Given the description of an element on the screen output the (x, y) to click on. 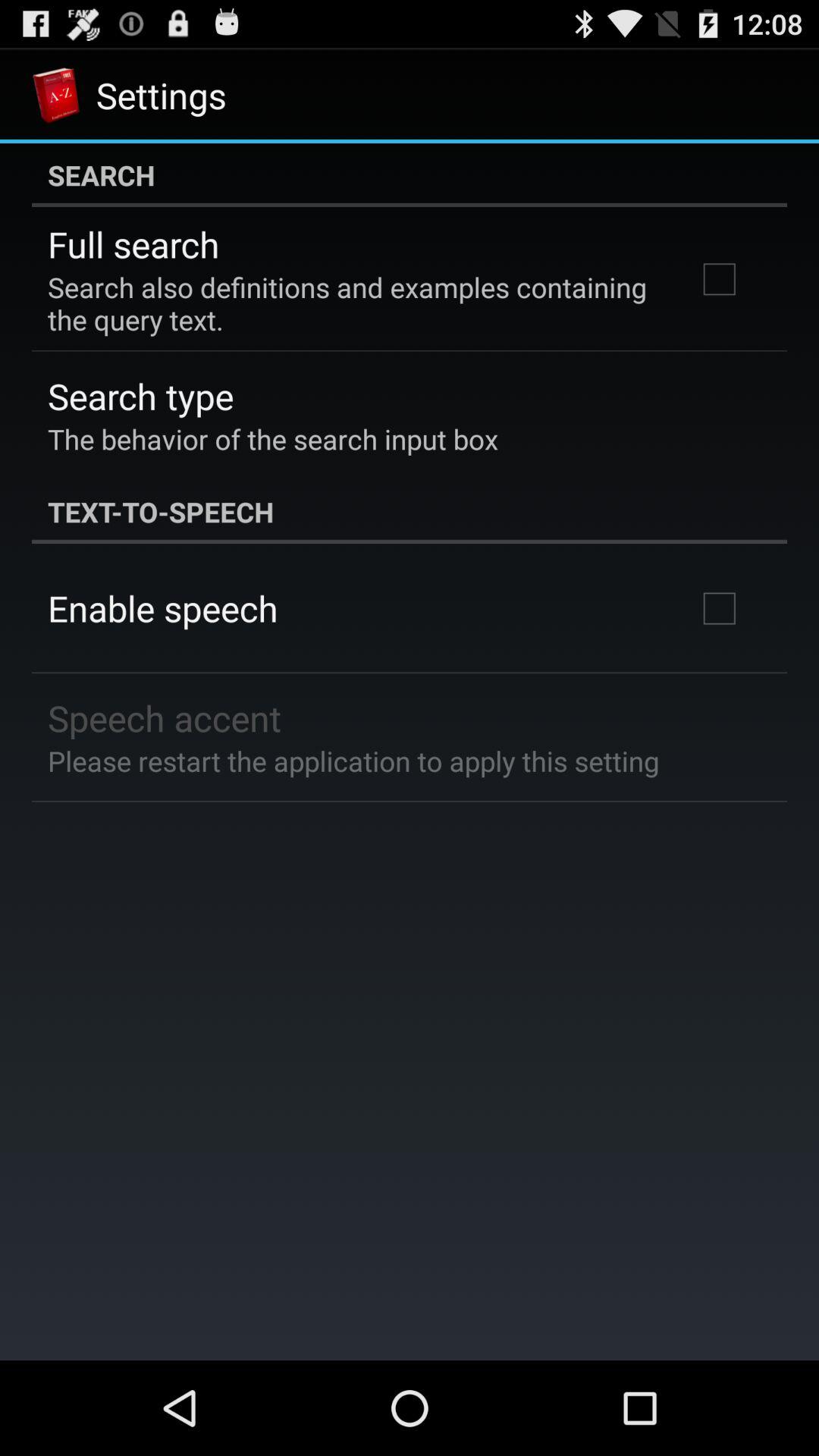
scroll until the please restart the item (353, 760)
